Given the description of an element on the screen output the (x, y) to click on. 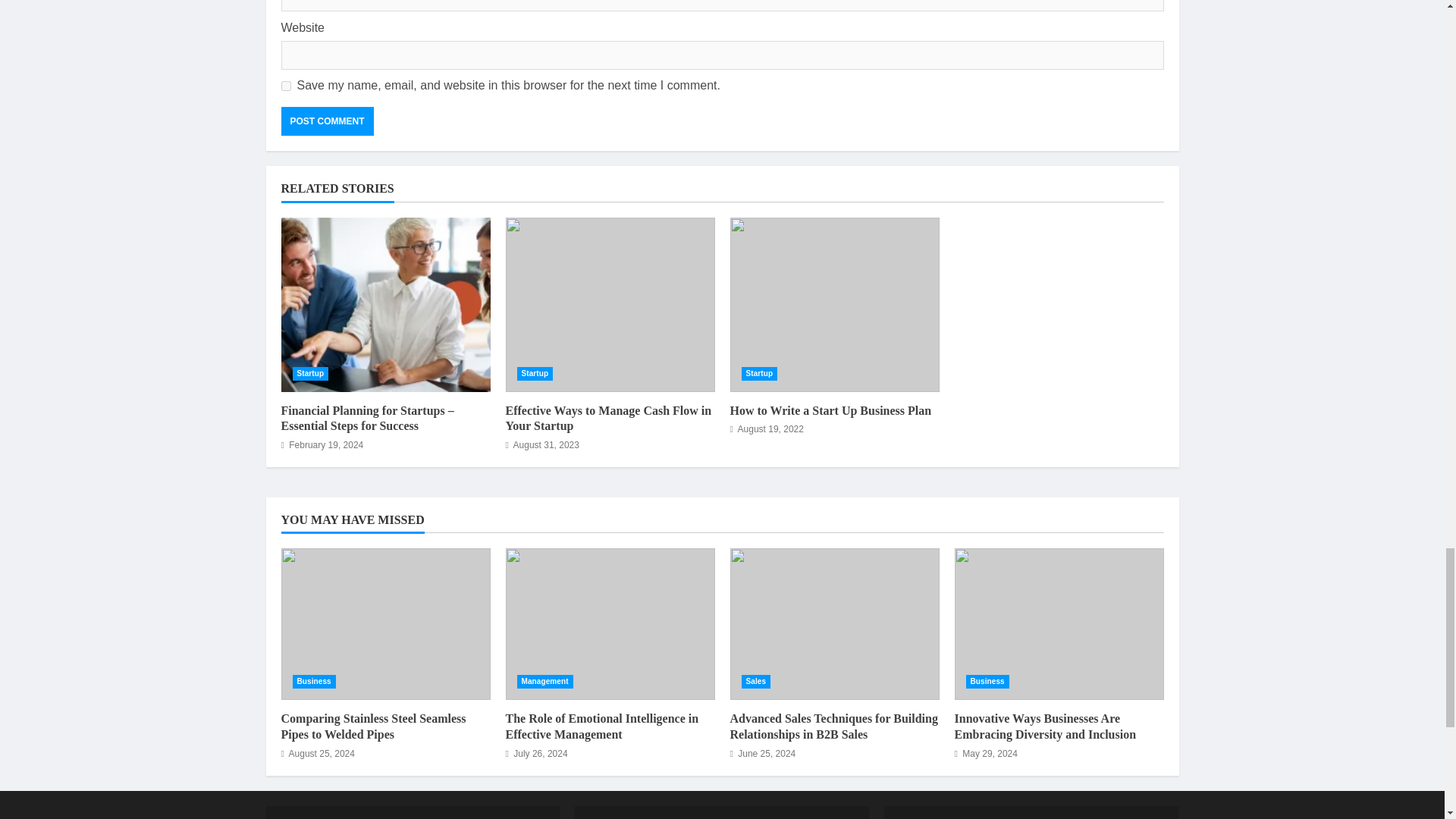
Effective Ways to Manage Cash Flow in Your Startup (608, 418)
Business (314, 681)
Startup (310, 373)
How to Write a Start Up Business Plan (834, 304)
Post Comment (326, 121)
Management (544, 681)
Sales (756, 681)
Comparing Stainless Steel Seamless Pipes to Welded Pipes (373, 726)
